Given the description of an element on the screen output the (x, y) to click on. 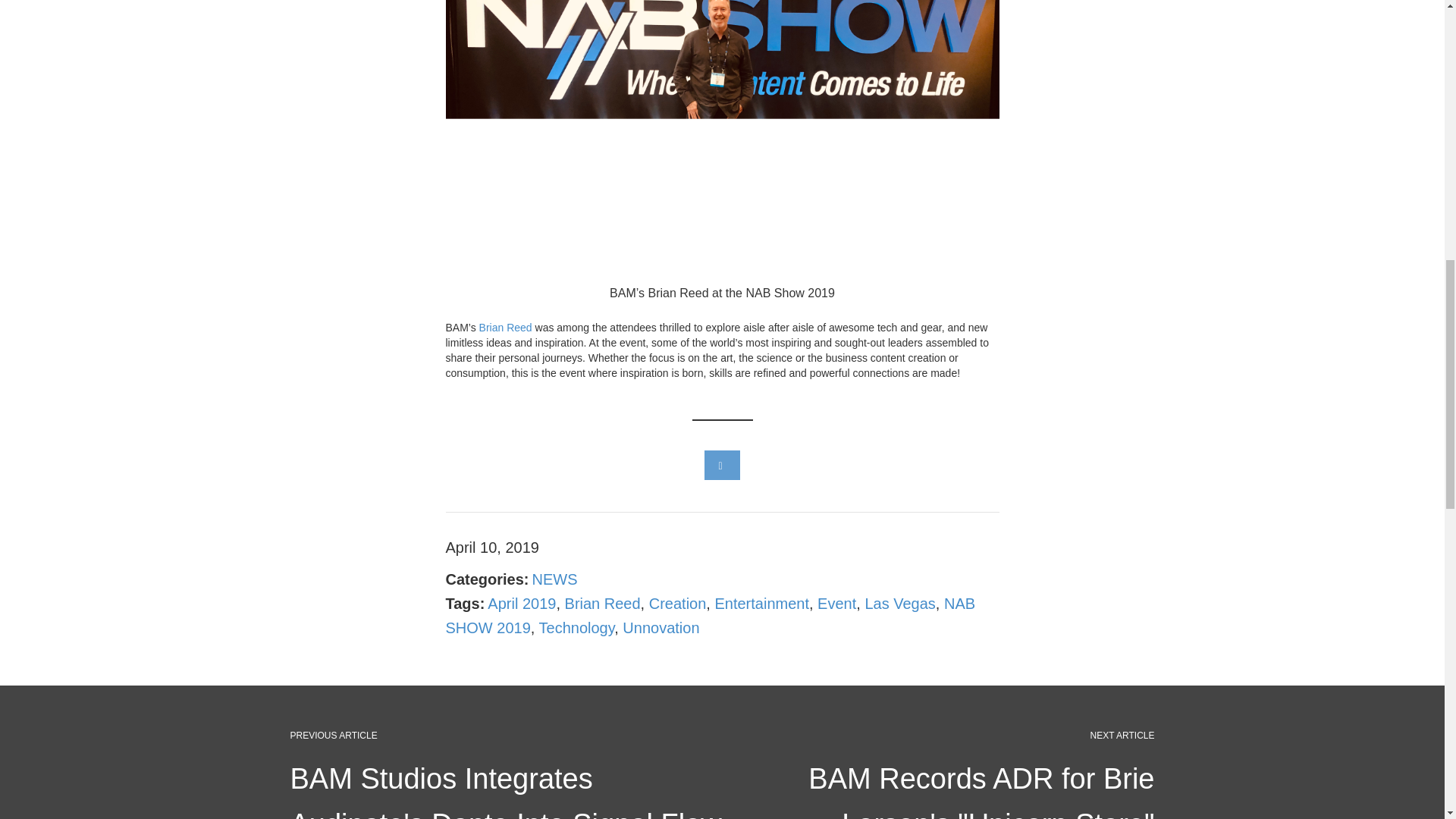
Entertainment (761, 603)
Las Vegas (899, 603)
April 2019 (521, 603)
Brian Reed (505, 327)
NEWS (555, 579)
Technology (576, 627)
Brian Reed (602, 603)
Creation (677, 603)
Event (836, 603)
NAB SHOW 2019 (710, 615)
